Given the description of an element on the screen output the (x, y) to click on. 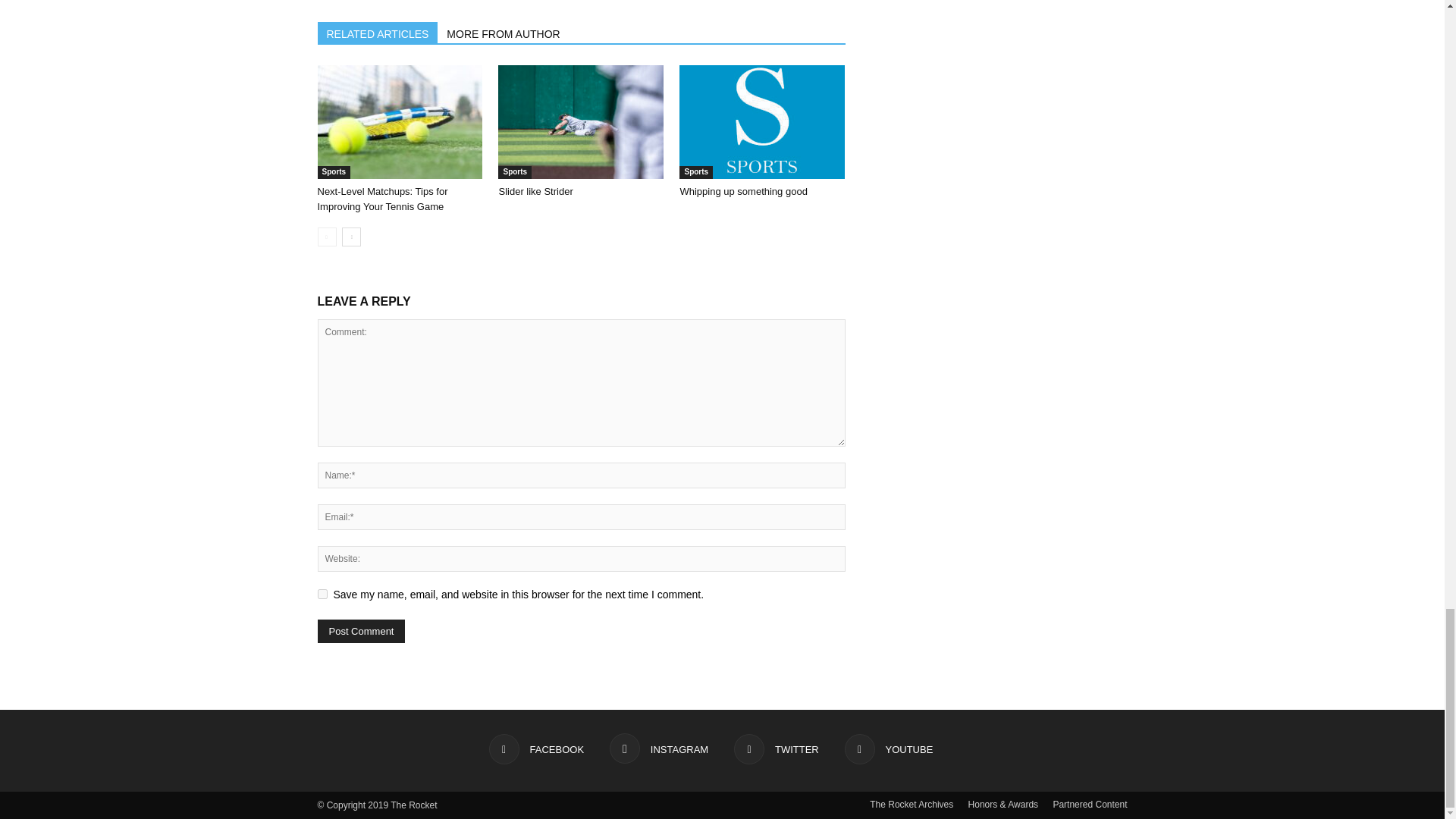
yes (321, 593)
Next-Level Matchups: Tips for Improving Your Tennis Game (381, 198)
Slider like Strider (580, 122)
Post Comment (360, 630)
Next-Level Matchups: Tips for Improving Your Tennis Game (399, 122)
